Given the description of an element on the screen output the (x, y) to click on. 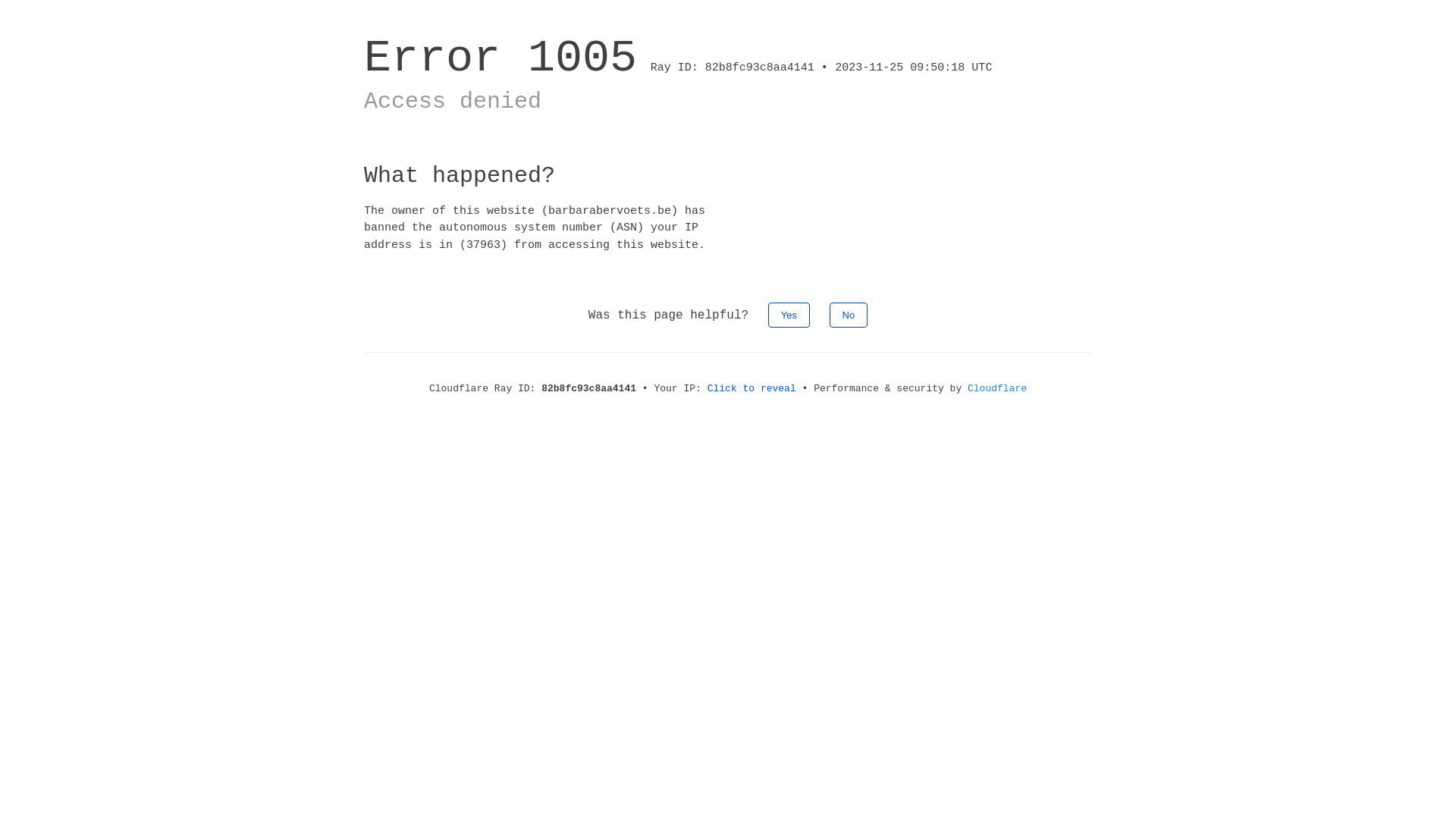
No Element type: text (848, 314)
Yes Element type: text (788, 314)
Cloudflare Element type: text (996, 388)
Click to reveal Element type: text (751, 388)
